Given the description of an element on the screen output the (x, y) to click on. 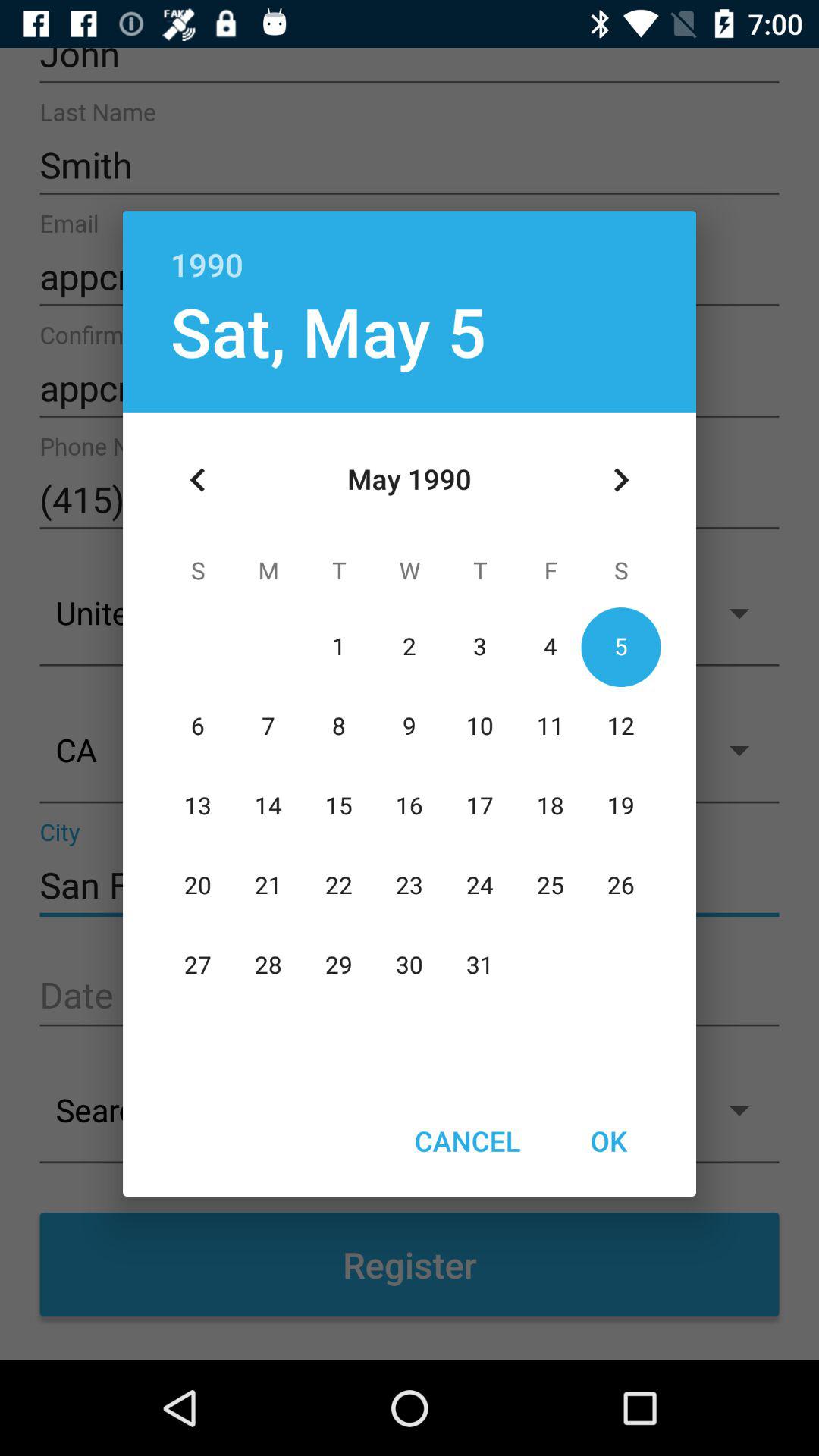
scroll to the 1990 item (409, 248)
